Given the description of an element on the screen output the (x, y) to click on. 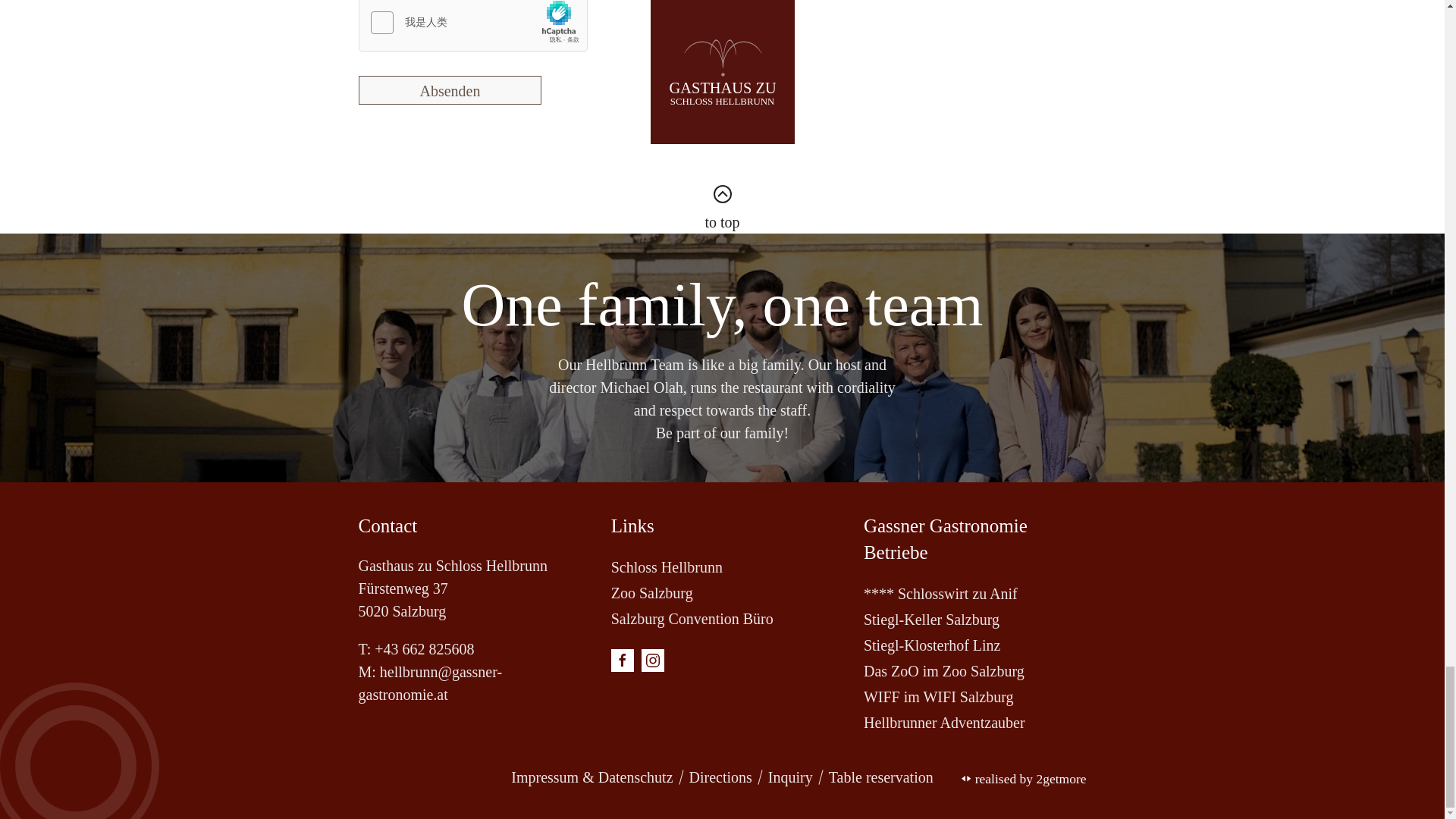
Zoo Salzburg (721, 592)
Directions (720, 776)
Schloss Hellbrunn (721, 566)
Das ZoO im Zoo Salzburg (974, 670)
Hellbrunner Adventzauber (974, 722)
realised by 2getmore (1023, 778)
Zoo Salzburg (721, 592)
Stiegl-Klosterhof Linz (974, 645)
Inquiry (790, 776)
Schloss Hellbrunn (721, 566)
